Given the description of an element on the screen output the (x, y) to click on. 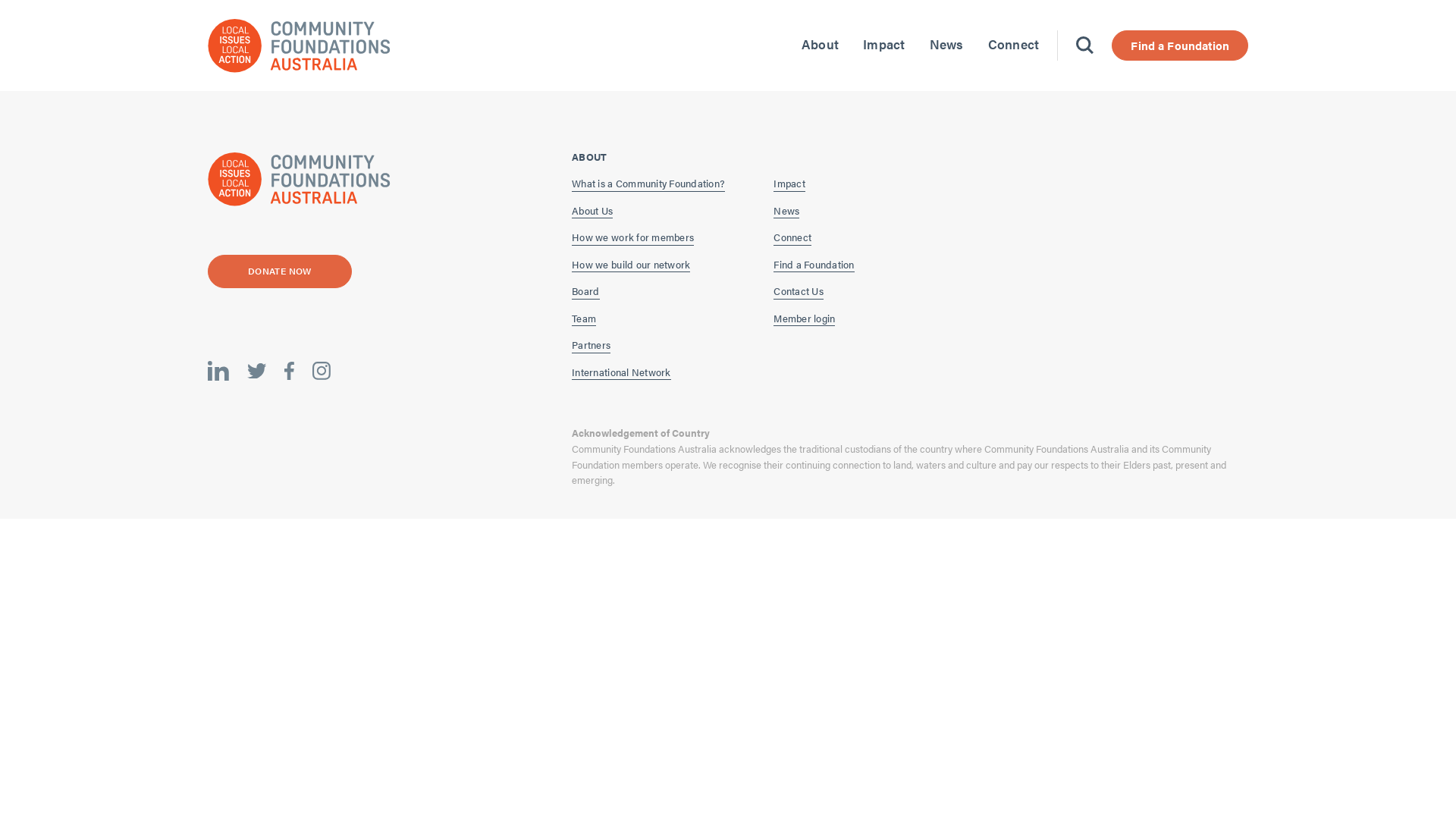
DONATE NOW Element type: text (279, 271)
